Given the description of an element on the screen output the (x, y) to click on. 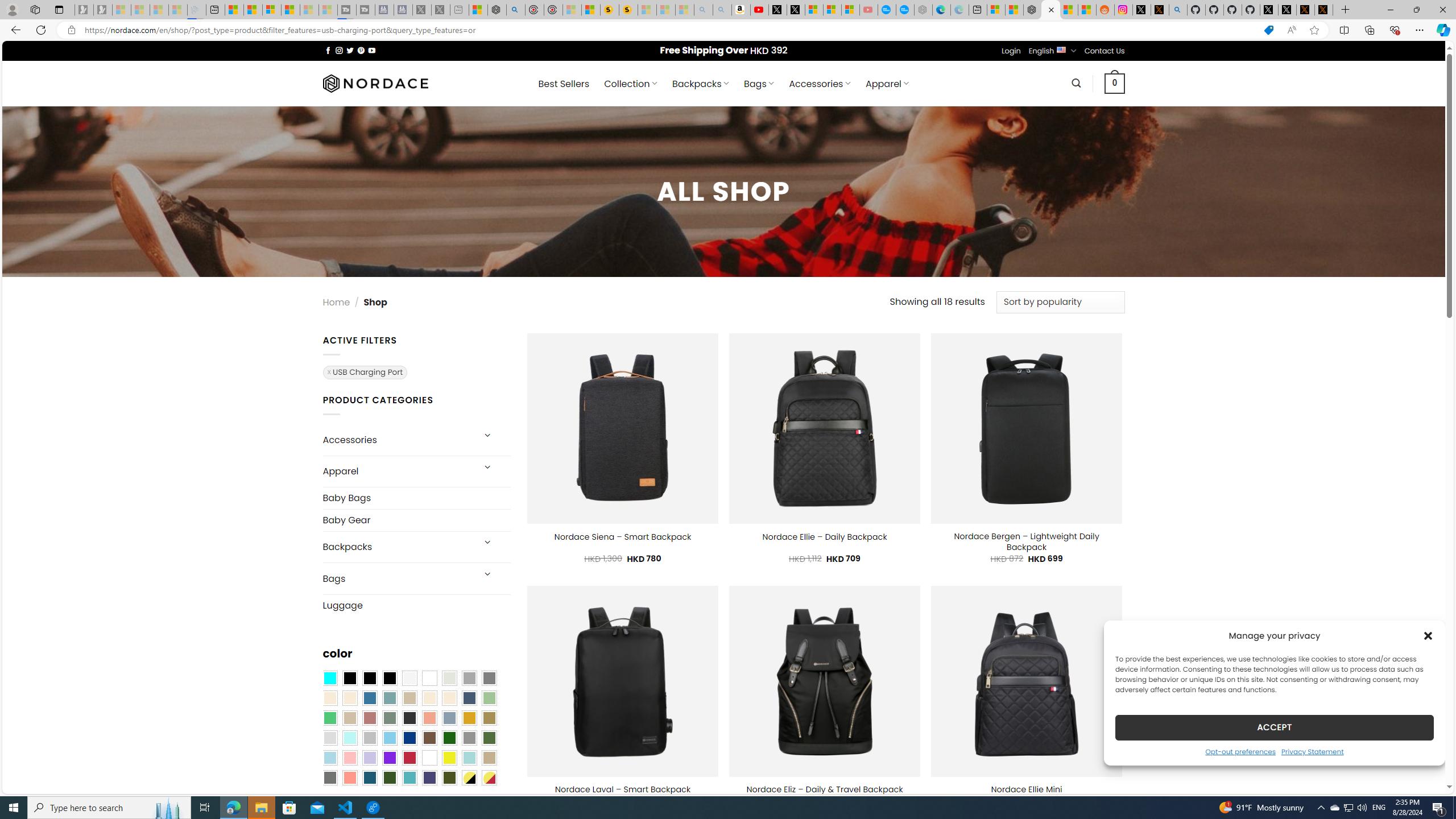
Follow on Facebook (327, 49)
Close tab (1050, 9)
Teal (408, 777)
  Best Sellers (563, 83)
Amazon Echo Dot PNG - Search Images - Sleeping (721, 9)
Baby Gear (416, 520)
Light Green (488, 698)
Newsletter Sign Up - Sleeping (102, 9)
Black (369, 678)
